Given the description of an element on the screen output the (x, y) to click on. 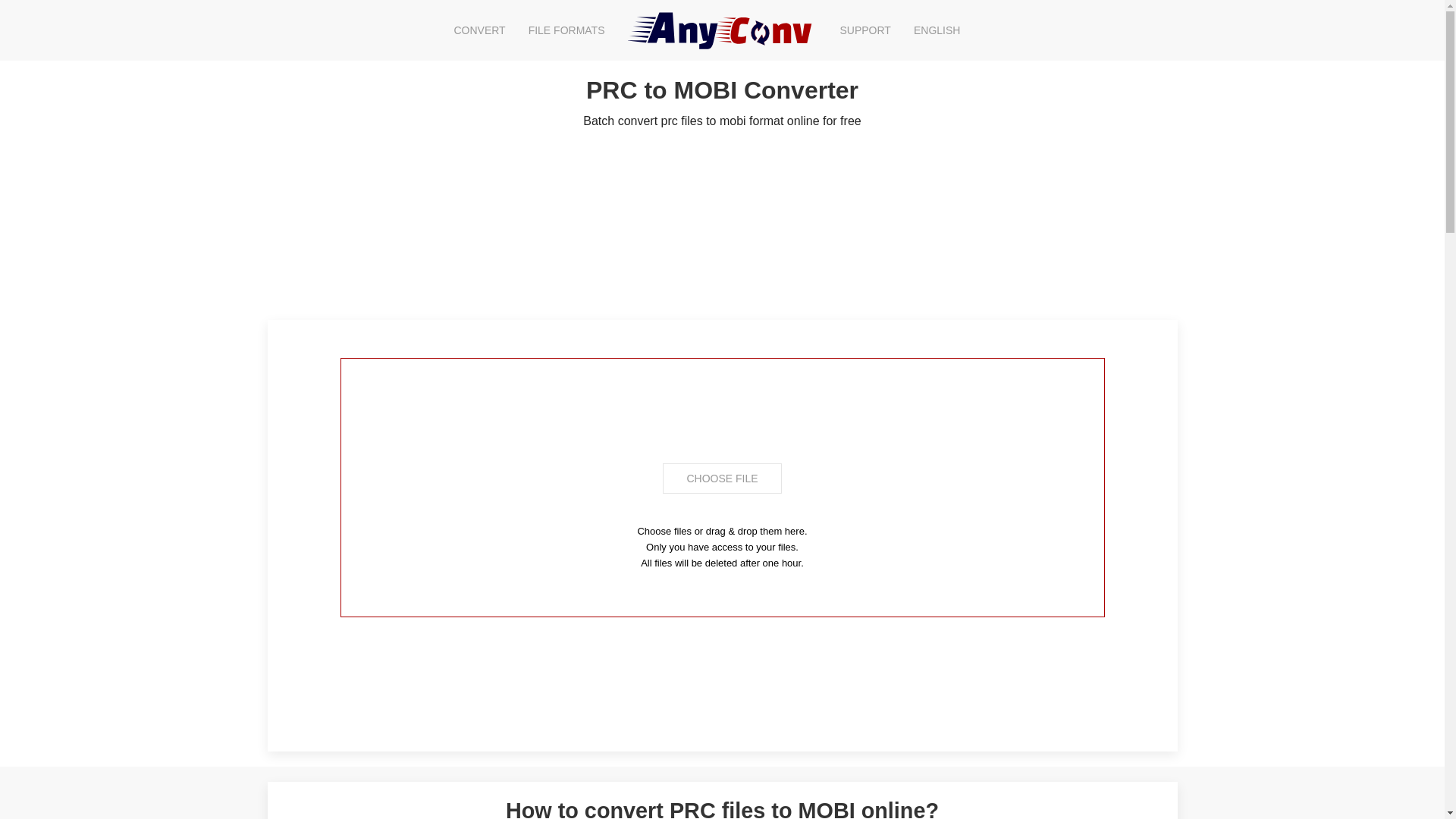
CONVERT (479, 30)
